Given the description of an element on the screen output the (x, y) to click on. 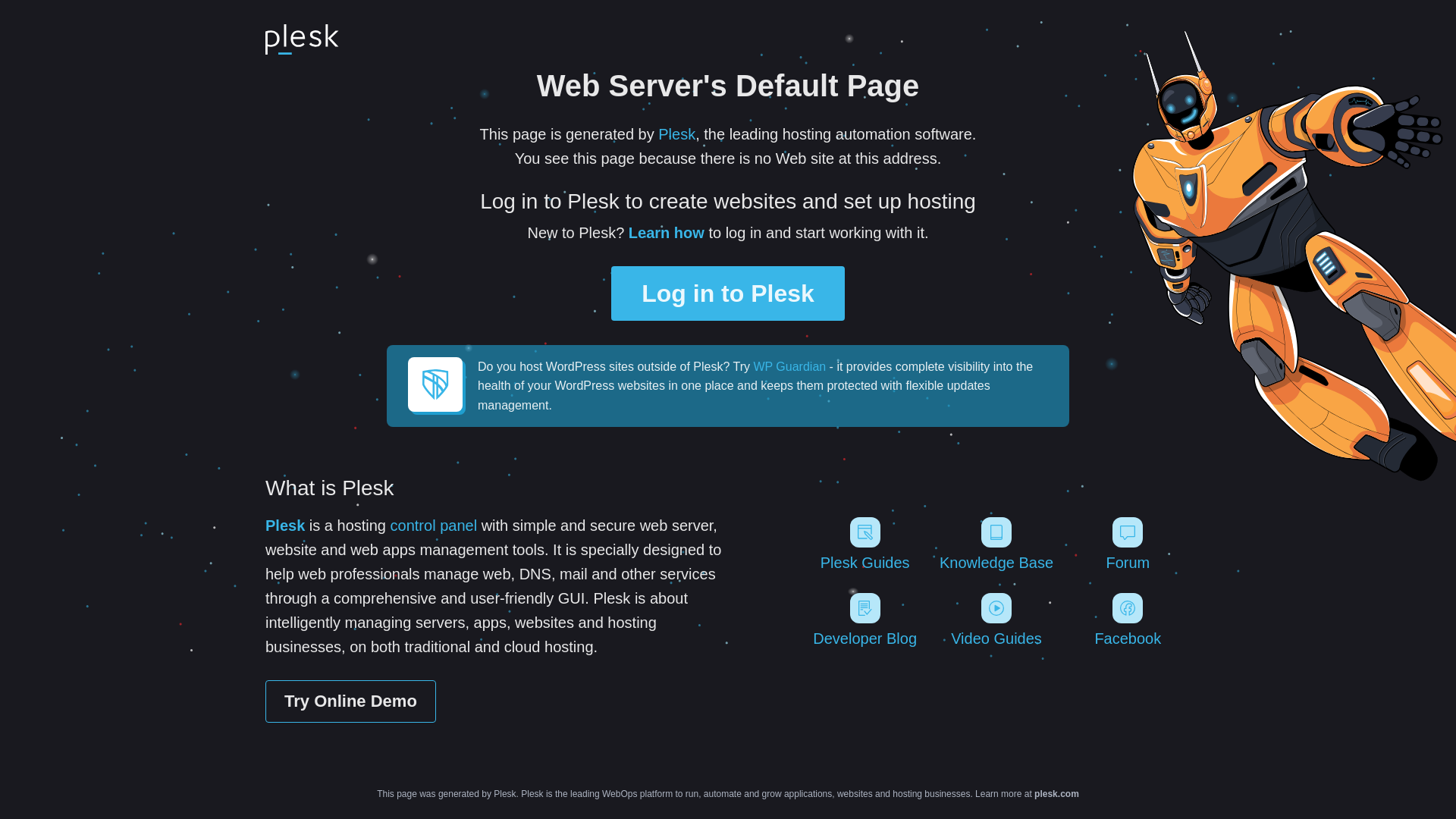
Try Online Demo Element type: text (350, 701)
Learn how Element type: text (666, 232)
Plesk Element type: text (284, 525)
Log in to Plesk Element type: text (727, 293)
plesk.com Element type: text (1056, 793)
Video Guides Element type: text (995, 619)
control panel Element type: text (433, 525)
Forum Element type: text (1127, 544)
Knowledge Base Element type: text (995, 544)
Plesk Element type: text (676, 133)
Plesk Guides Element type: text (864, 544)
Developer Blog Element type: text (864, 619)
Facebook Element type: text (1127, 619)
WP Guardian Element type: text (789, 366)
